Given the description of an element on the screen output the (x, y) to click on. 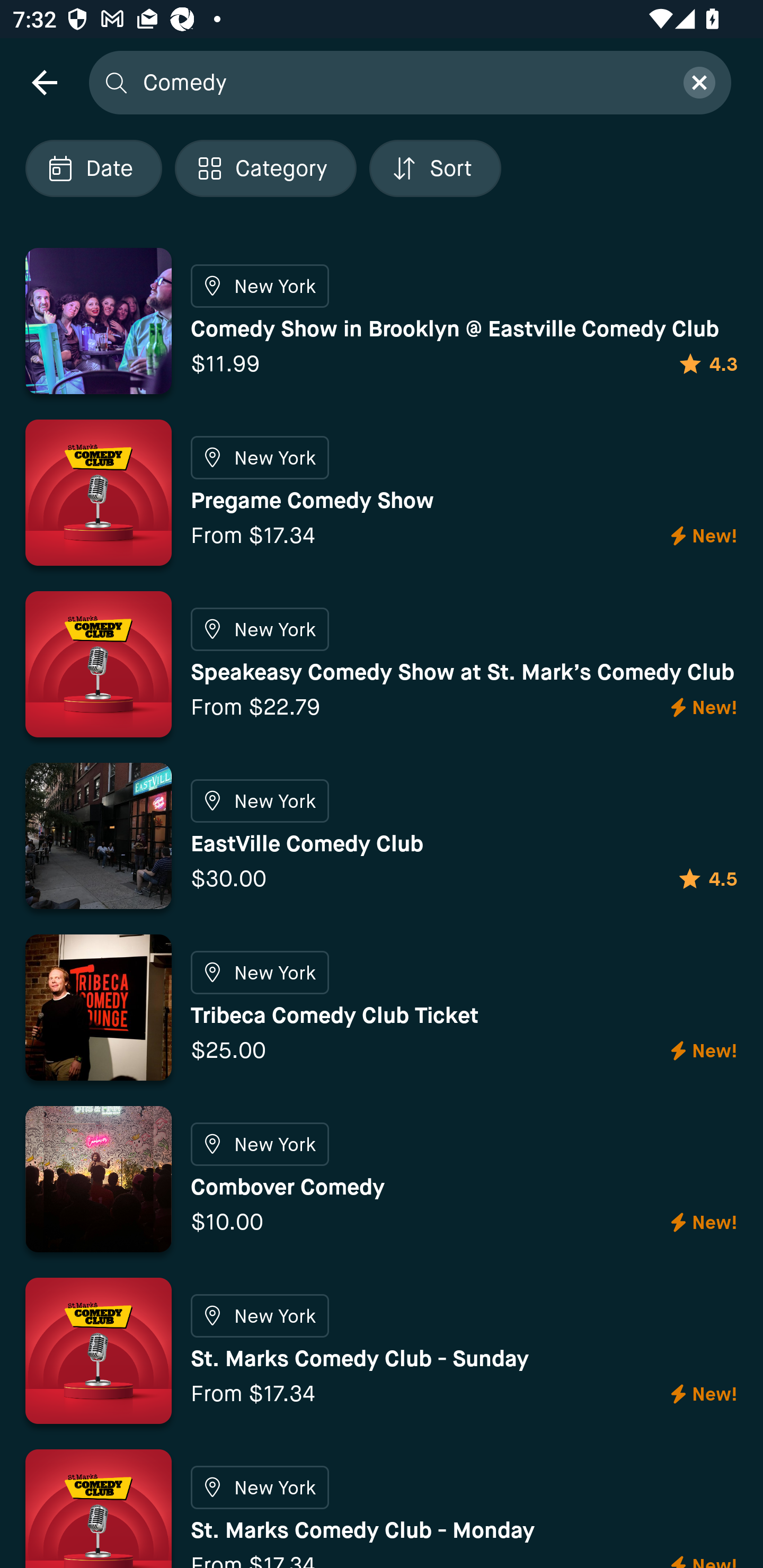
navigation icon (44, 81)
Comedy (402, 81)
Localized description Date (93, 168)
Localized description Category (265, 168)
Localized description Sort (435, 168)
